Given the description of an element on the screen output the (x, y) to click on. 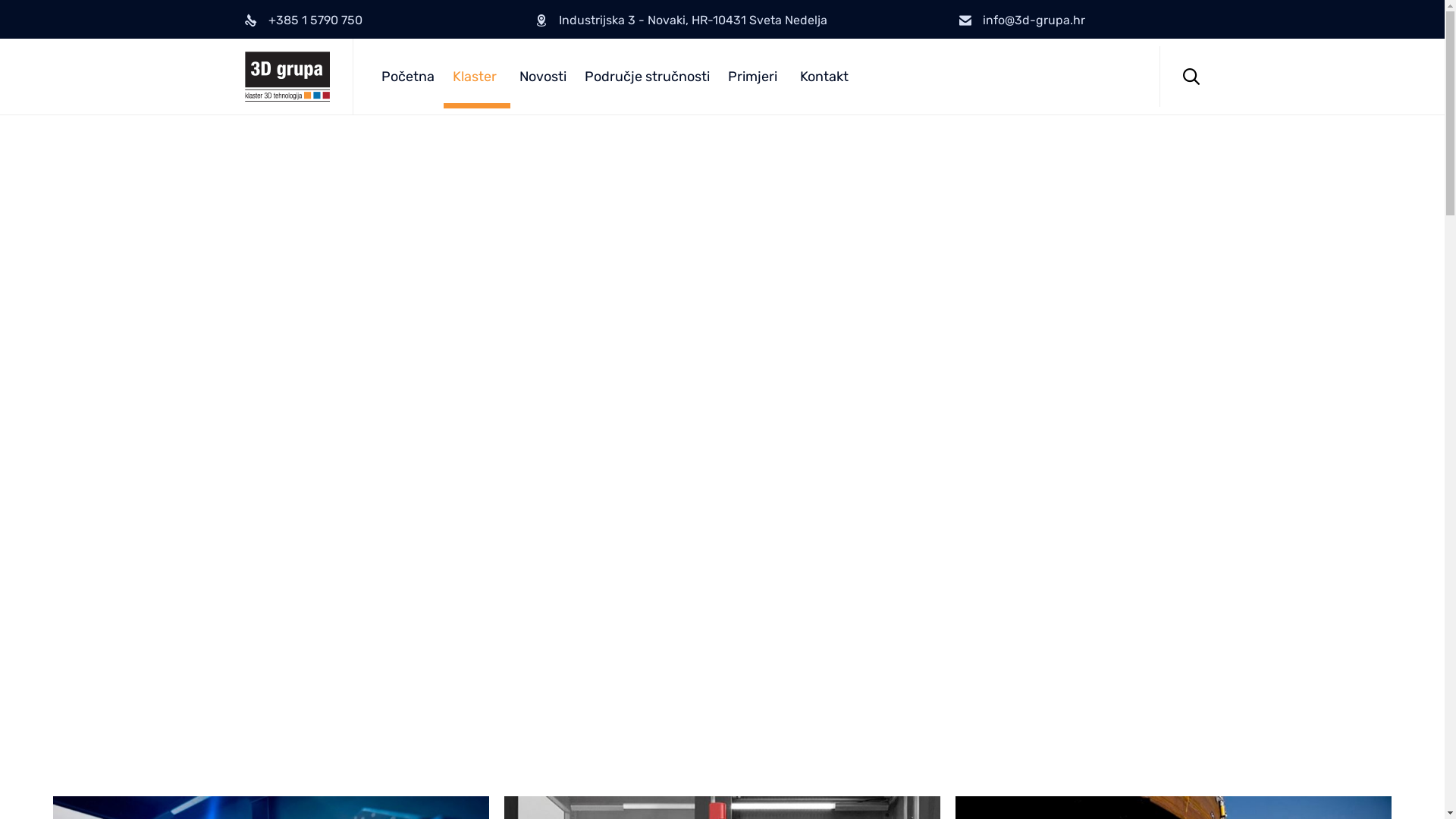
3D Grupa Element type: hover (286, 76)
Primjeri Element type: text (754, 76)
Kontakt Element type: text (823, 76)
Klaster Element type: text (475, 76)
Novosti Element type: text (541, 76)
info@3d-grupa.hr Element type: text (1033, 20)
Skip to content Element type: text (1158, 45)
